Given the description of an element on the screen output the (x, y) to click on. 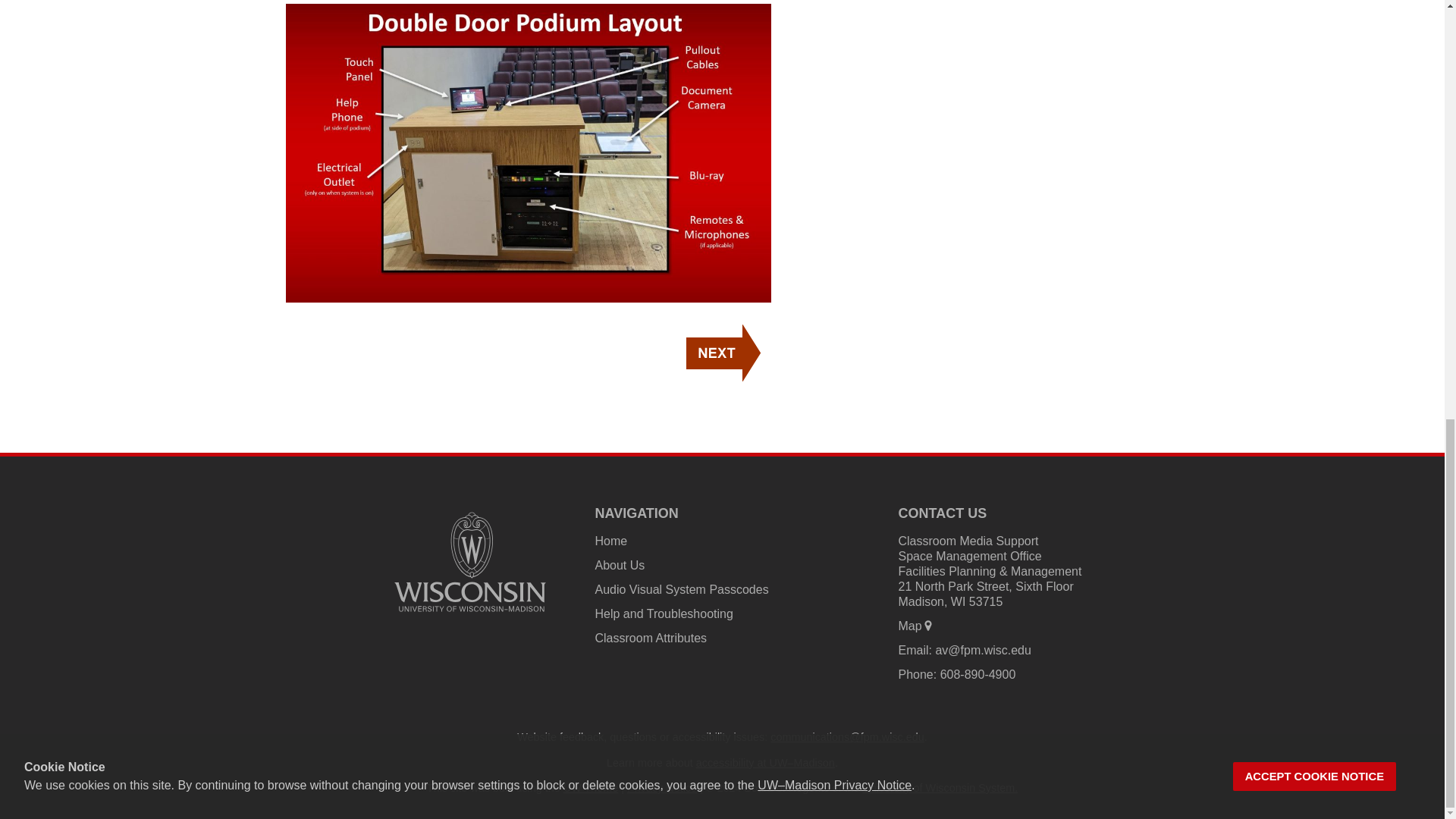
University logo that links to main university website (470, 614)
University logo that links to main university website (470, 562)
map marker (927, 625)
Audio Visual System Passcodes (681, 589)
Privacy Notice (662, 787)
University of Wisconsin System. (939, 787)
UW Theme (590, 787)
Help and Troubleshooting (663, 613)
Home (610, 540)
Classroom Attributes (650, 637)
About Us (619, 564)
608-890-4900 (978, 674)
Map map marker (915, 625)
